Given the description of an element on the screen output the (x, y) to click on. 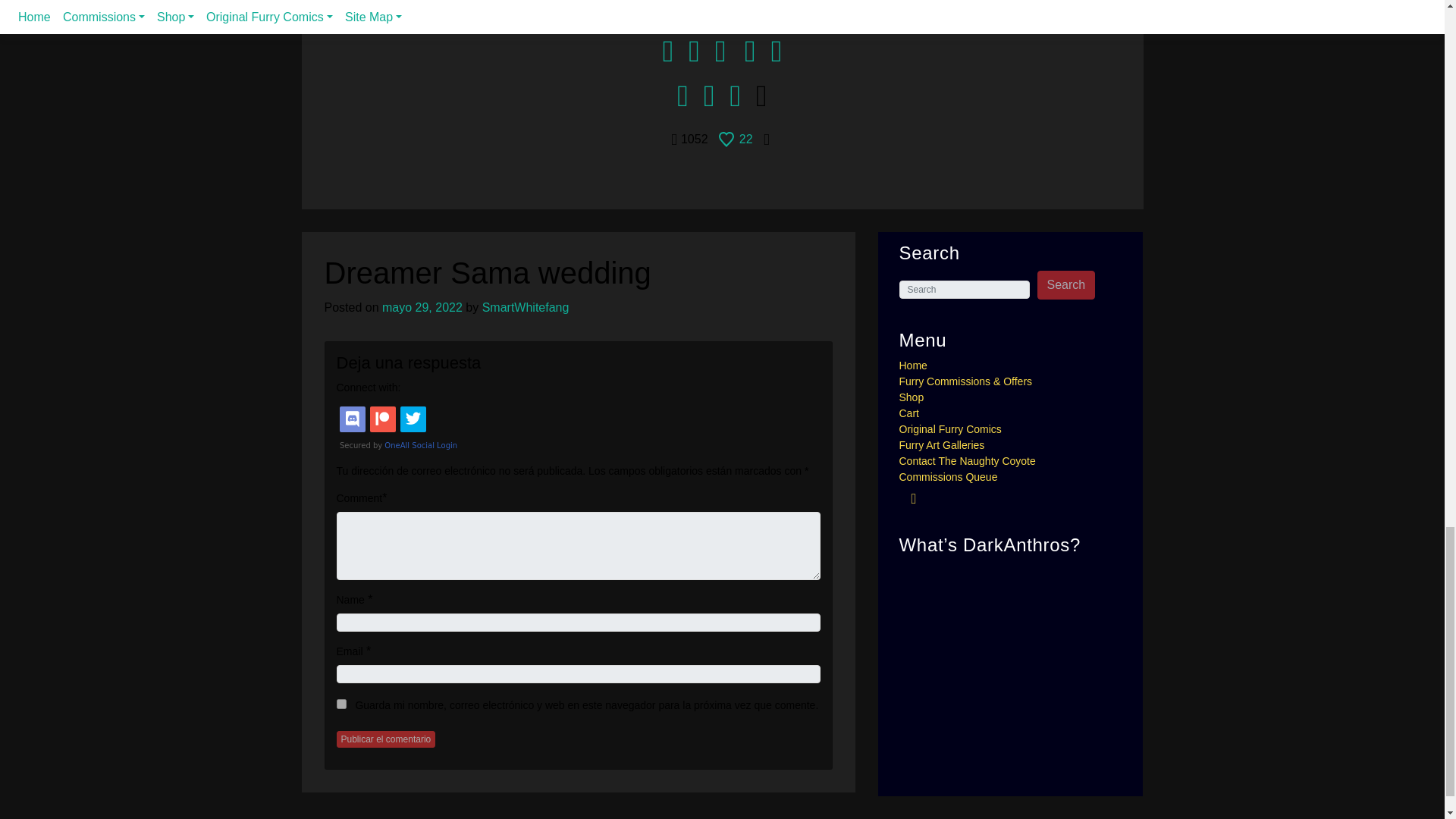
Desert's Raider (601, 2)
Mission Failed (945, 3)
yes (341, 704)
Desert's Raiders (724, 3)
action (414, 2)
cryptocurrency (533, 2)
furry comics (853, 2)
naked (1031, 2)
Feral (818, 2)
Publicar el comentario (385, 739)
